Given the description of an element on the screen output the (x, y) to click on. 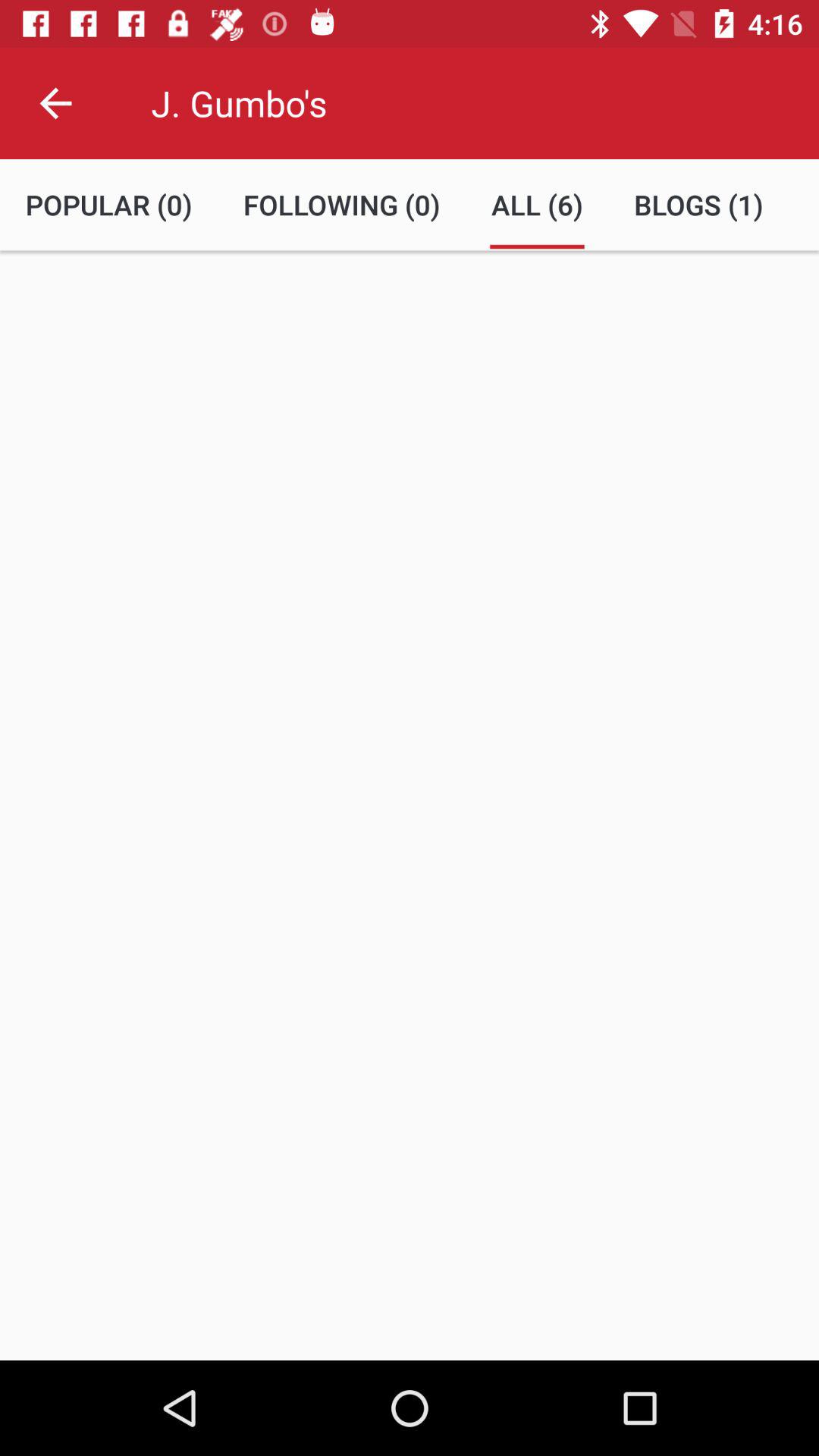
choose icon next to all (6) item (698, 204)
